Given the description of an element on the screen output the (x, y) to click on. 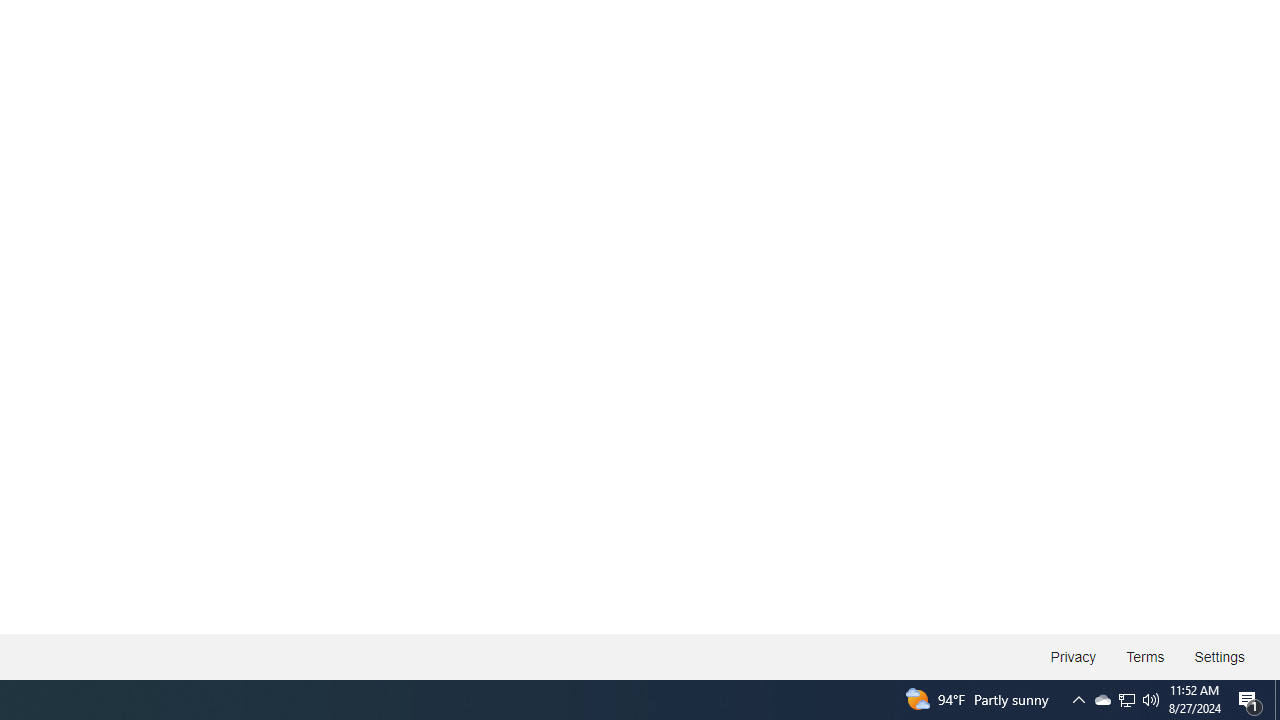
Privacy (1073, 656)
Settings (1218, 656)
